Given the description of an element on the screen output the (x, y) to click on. 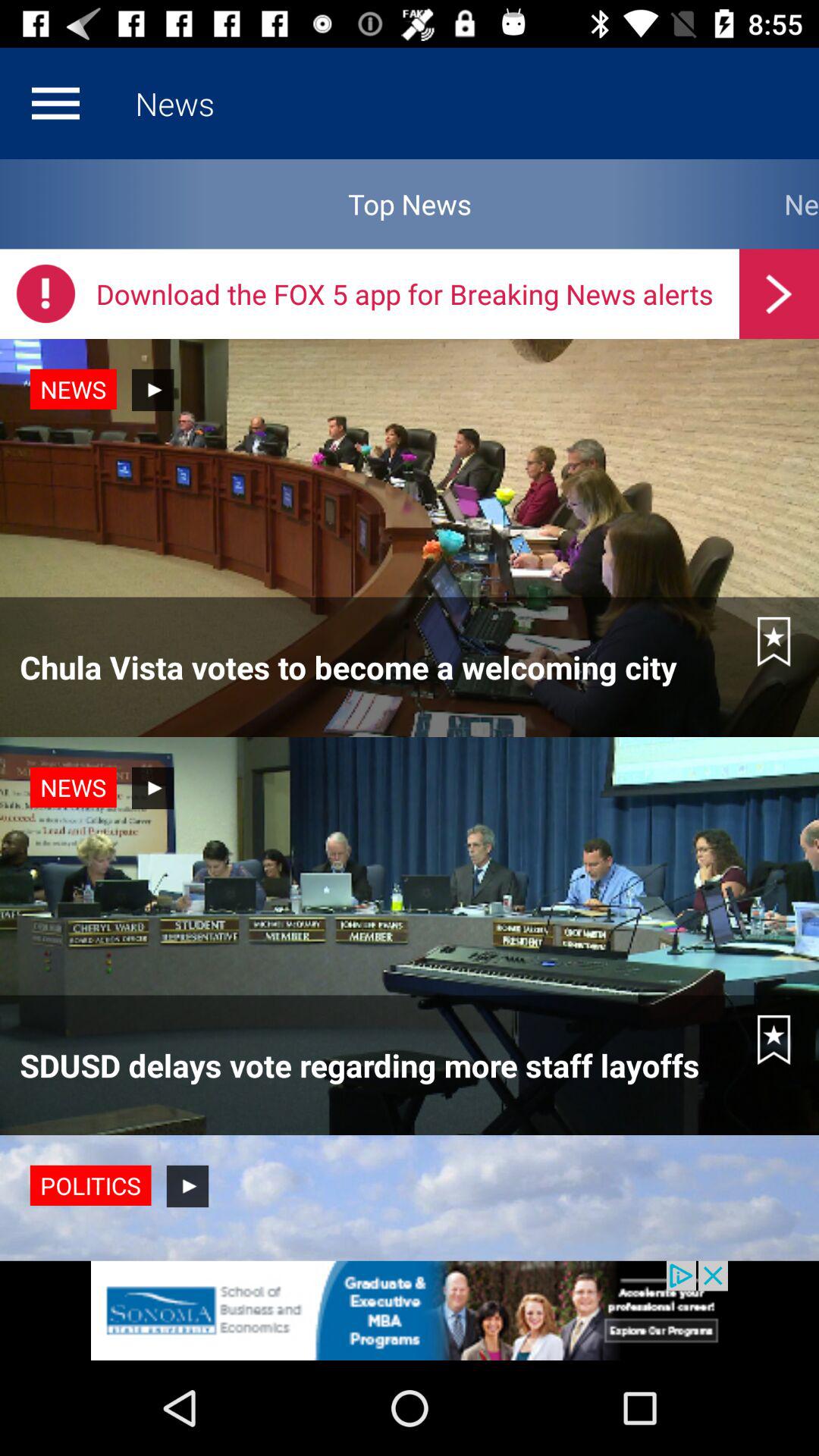
clickable advertisement (409, 1310)
